Given the description of an element on the screen output the (x, y) to click on. 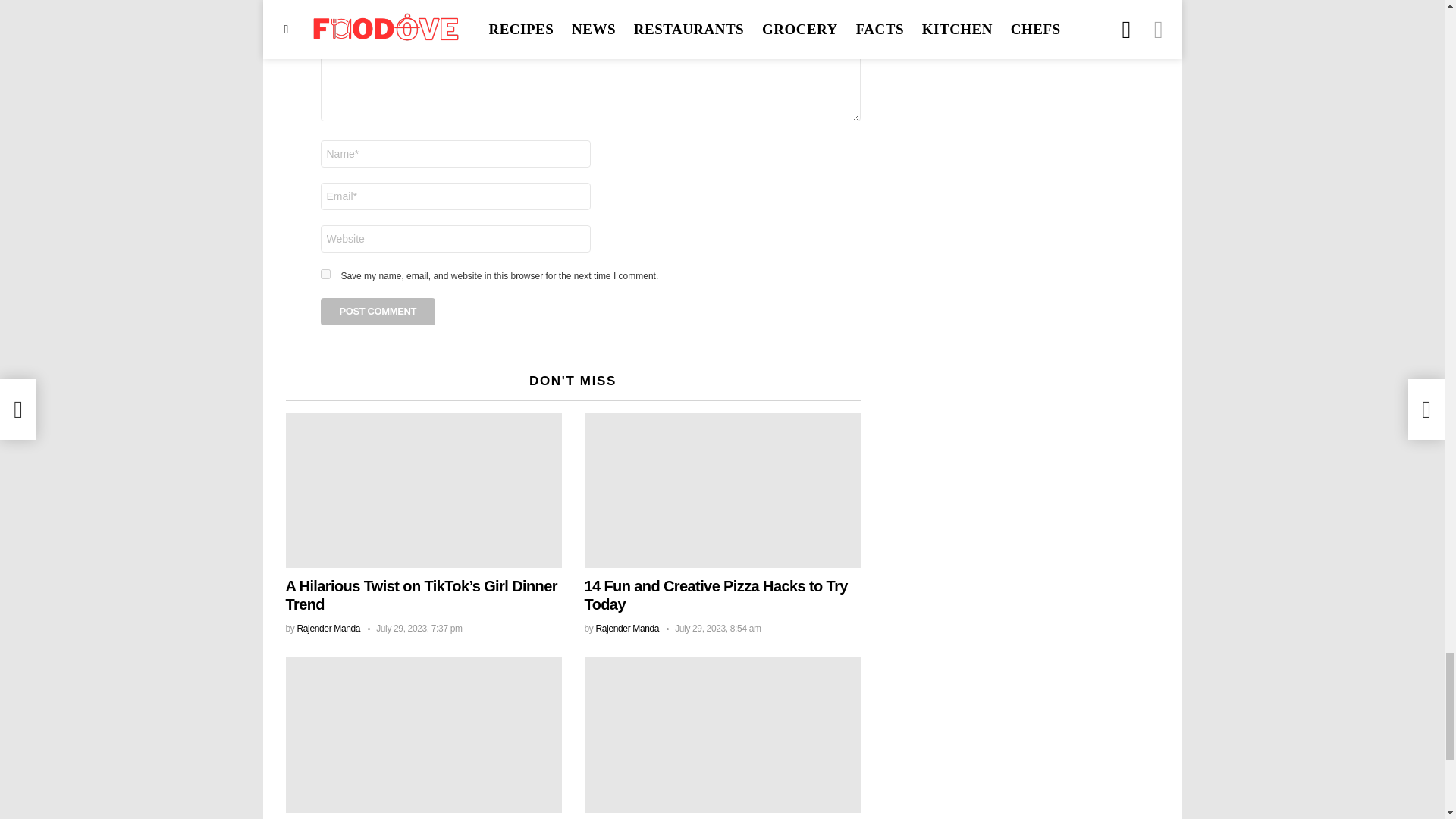
Post Comment (377, 311)
yes (325, 274)
